Given the description of an element on the screen output the (x, y) to click on. 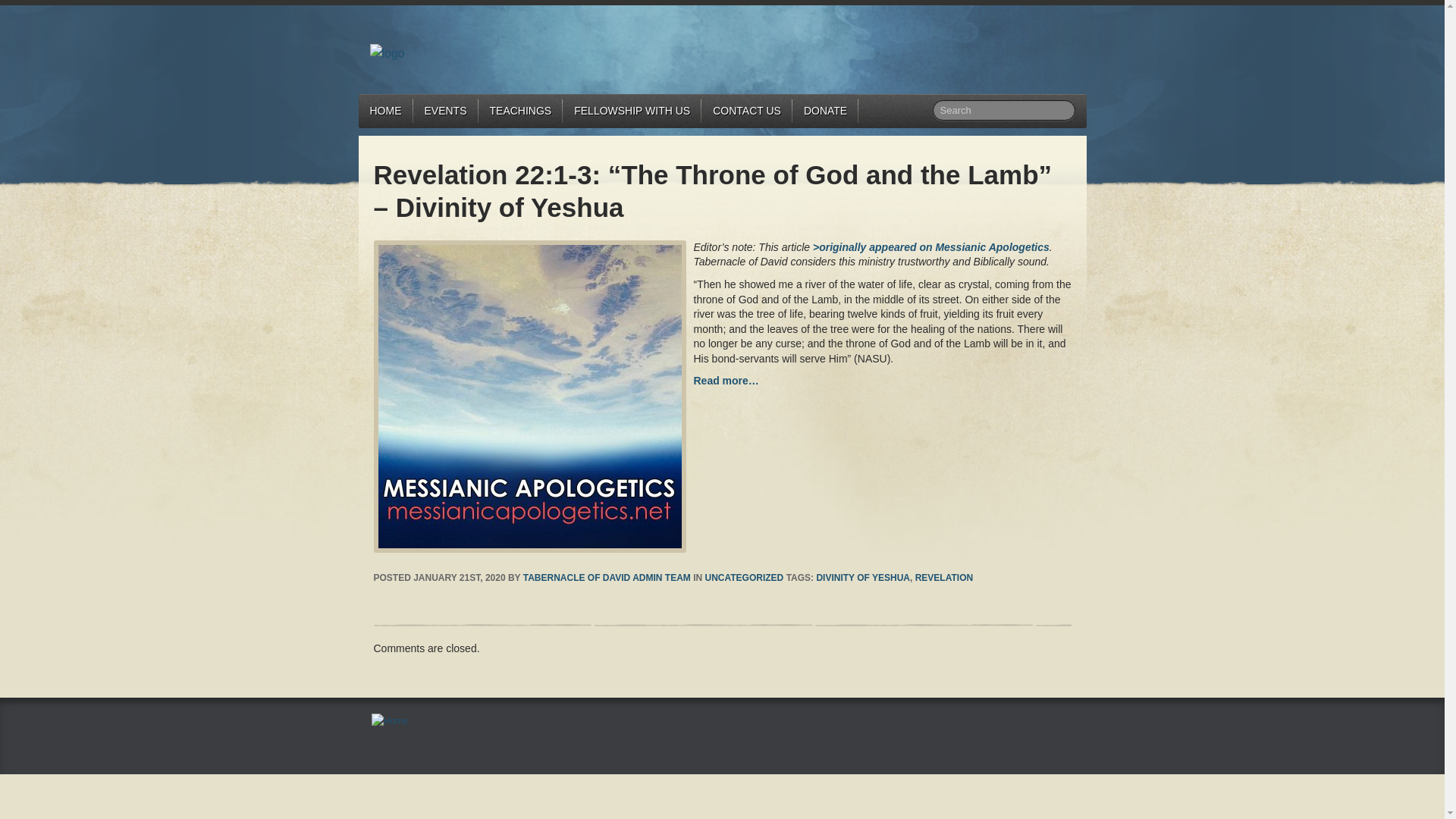
DONATE (825, 110)
Tabernacle of David (386, 51)
REVELATION (943, 577)
Posts by Tabernacle of David Admin Team (606, 577)
CONTACT US (746, 110)
FELLOWSHIP WITH US (631, 110)
UNCATEGORIZED (744, 577)
TEACHINGS (521, 110)
Home (389, 719)
TABERNACLE OF DAVID ADMIN TEAM (606, 577)
DIVINITY OF YESHUA (862, 577)
EVENTS (444, 110)
HOME (385, 110)
